Given the description of an element on the screen output the (x, y) to click on. 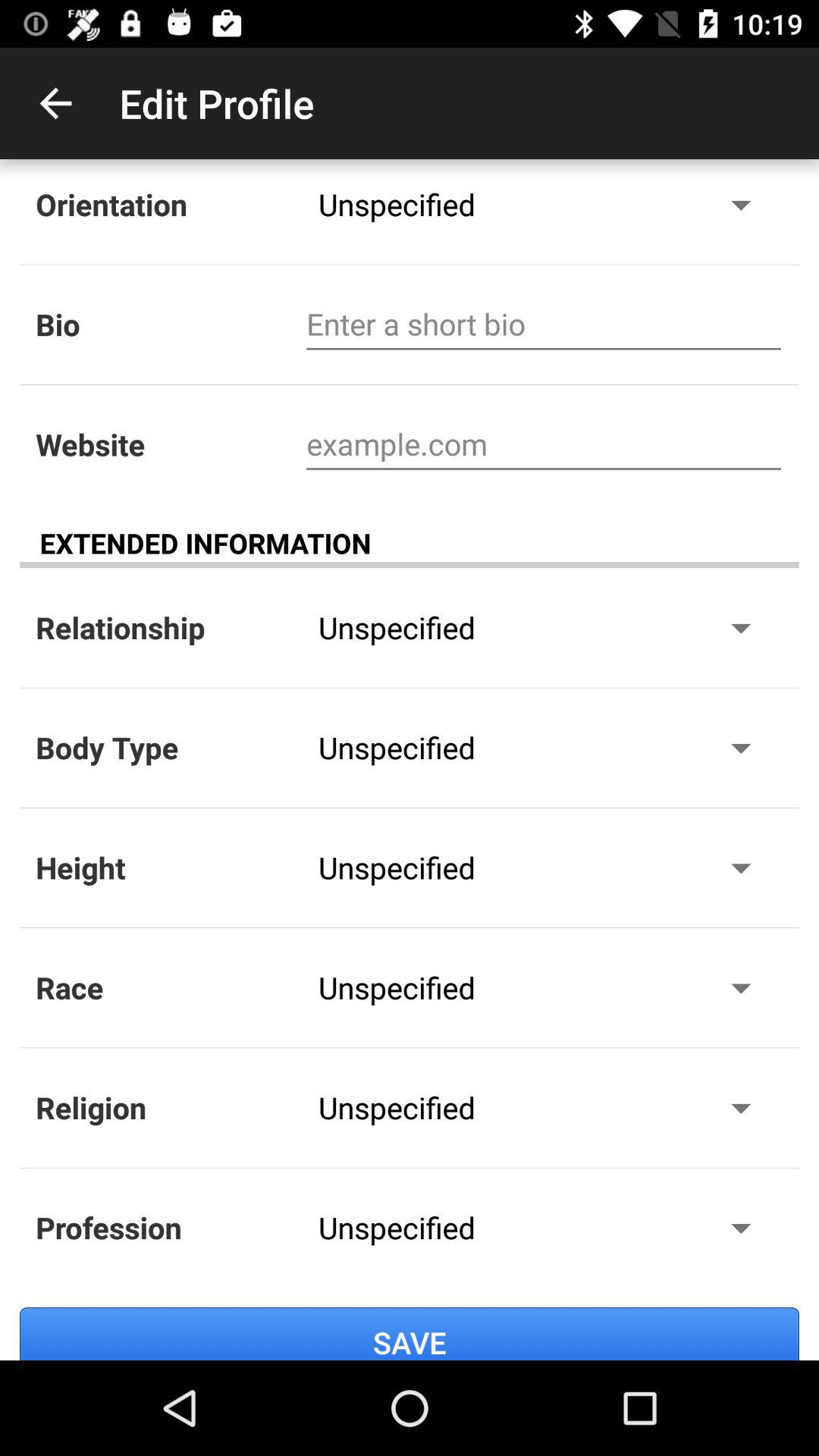
enter website address (543, 444)
